Given the description of an element on the screen output the (x, y) to click on. 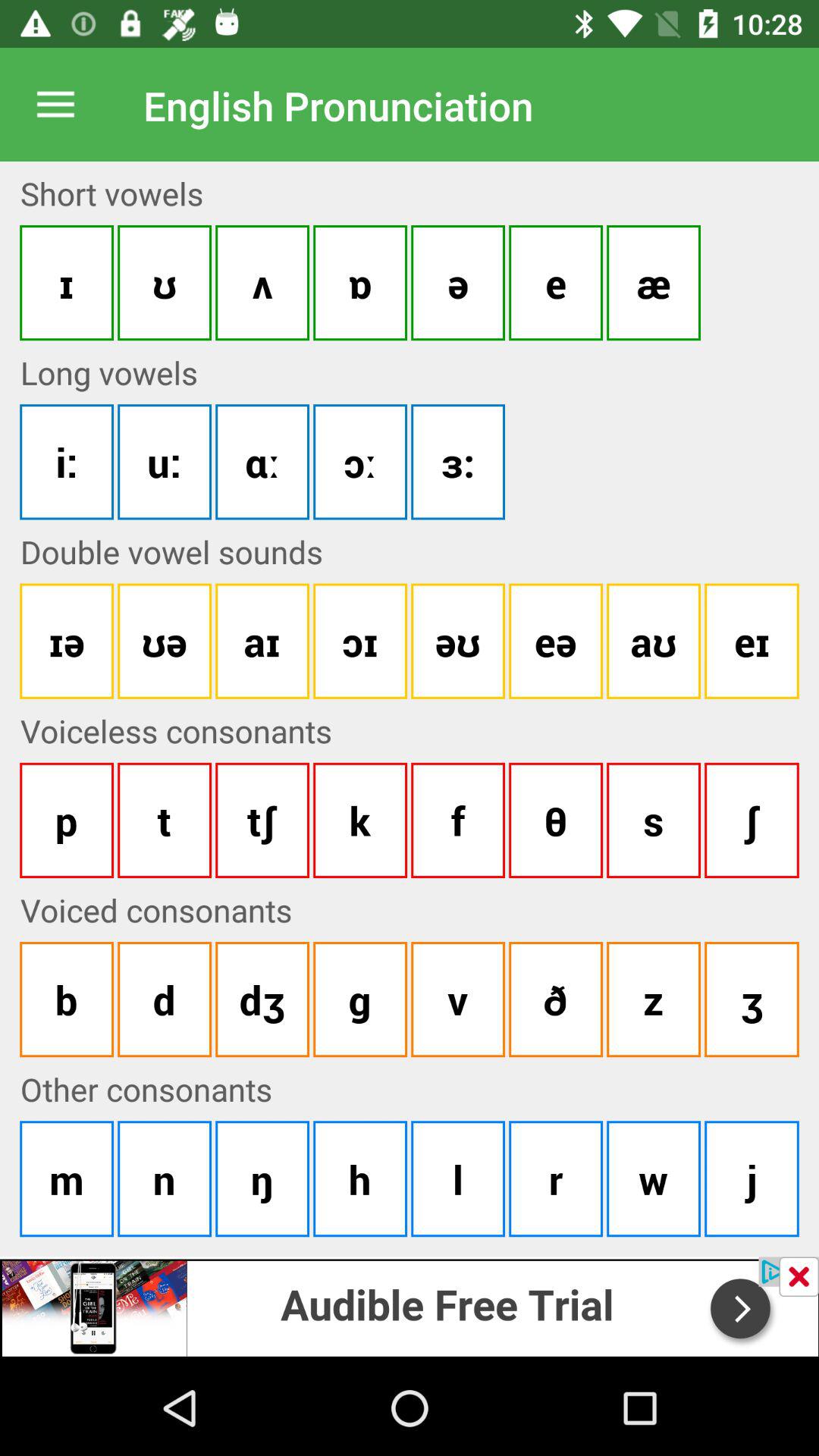
open advertisement (409, 1306)
